Given the description of an element on the screen output the (x, y) to click on. 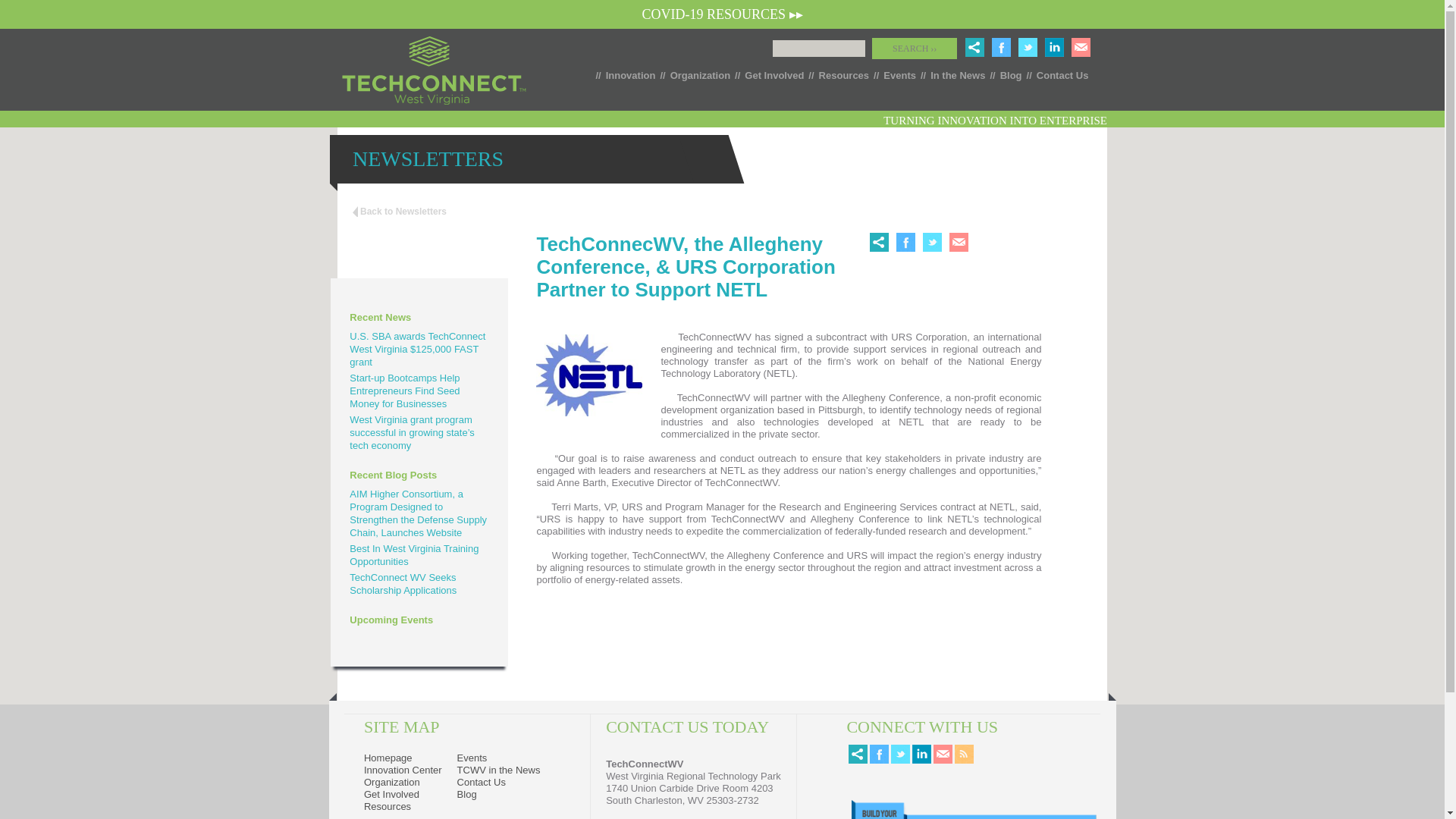
Blog (1008, 75)
Organization (697, 75)
TechConnect West Virginia (433, 70)
Events (897, 75)
Innovation (628, 75)
Homepage (388, 757)
Innovation Center (403, 769)
Back to Newsletters (399, 211)
Contact Us (481, 781)
Events (472, 757)
Blog (467, 794)
Resources (387, 806)
Resources (841, 75)
